Given the description of an element on the screen output the (x, y) to click on. 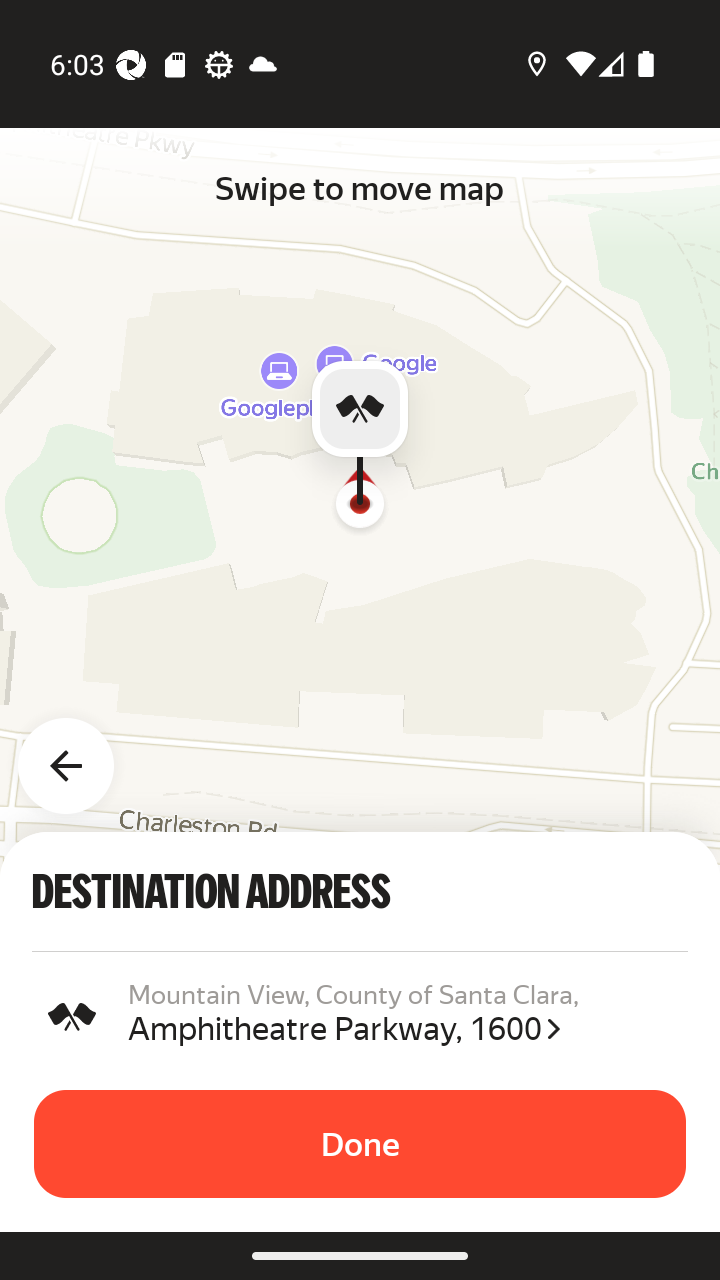
Back (78, 753)
Done (359, 1144)
